Given the description of an element on the screen output the (x, y) to click on. 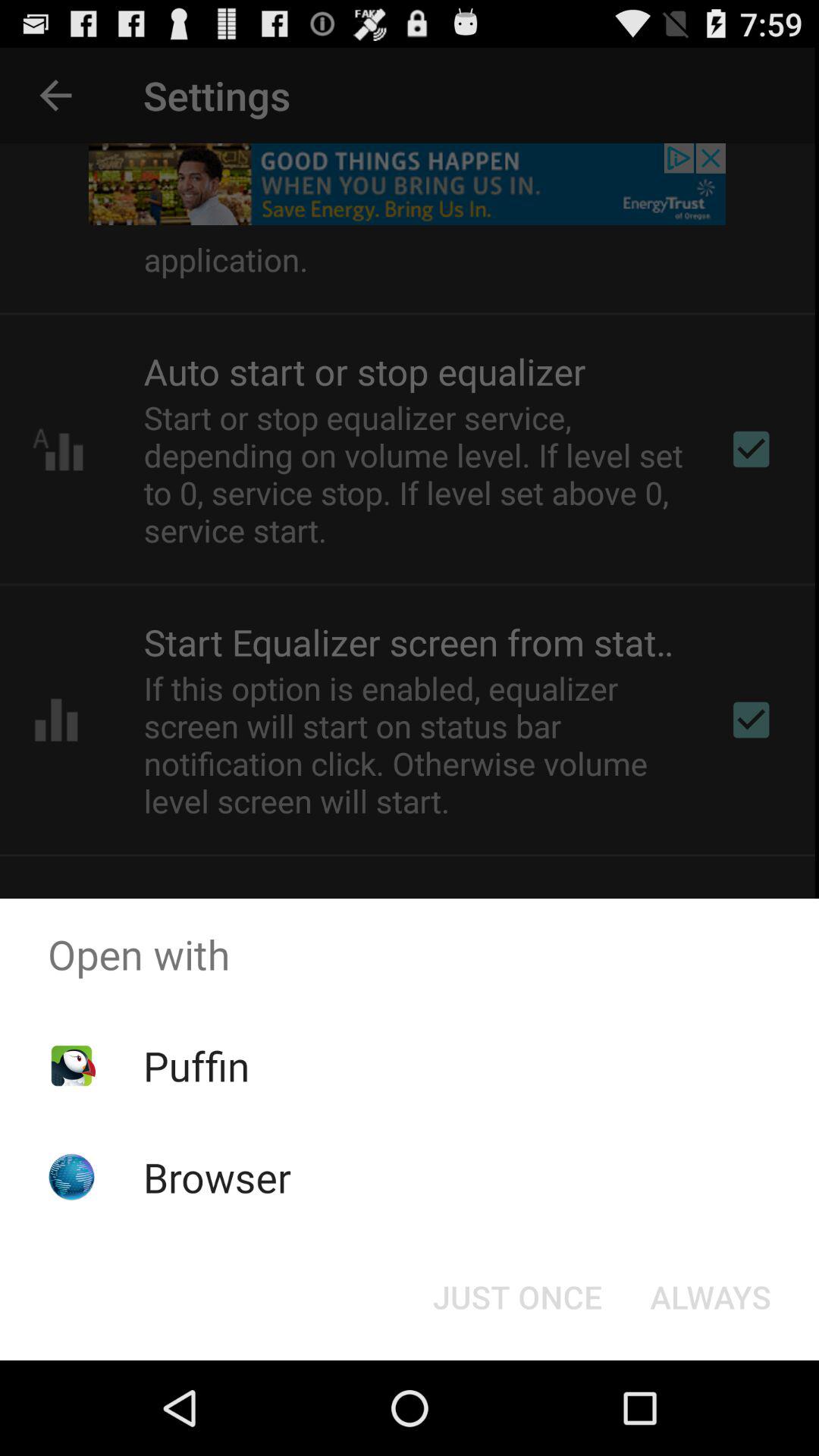
press the app above browser icon (196, 1065)
